Given the description of an element on the screen output the (x, y) to click on. 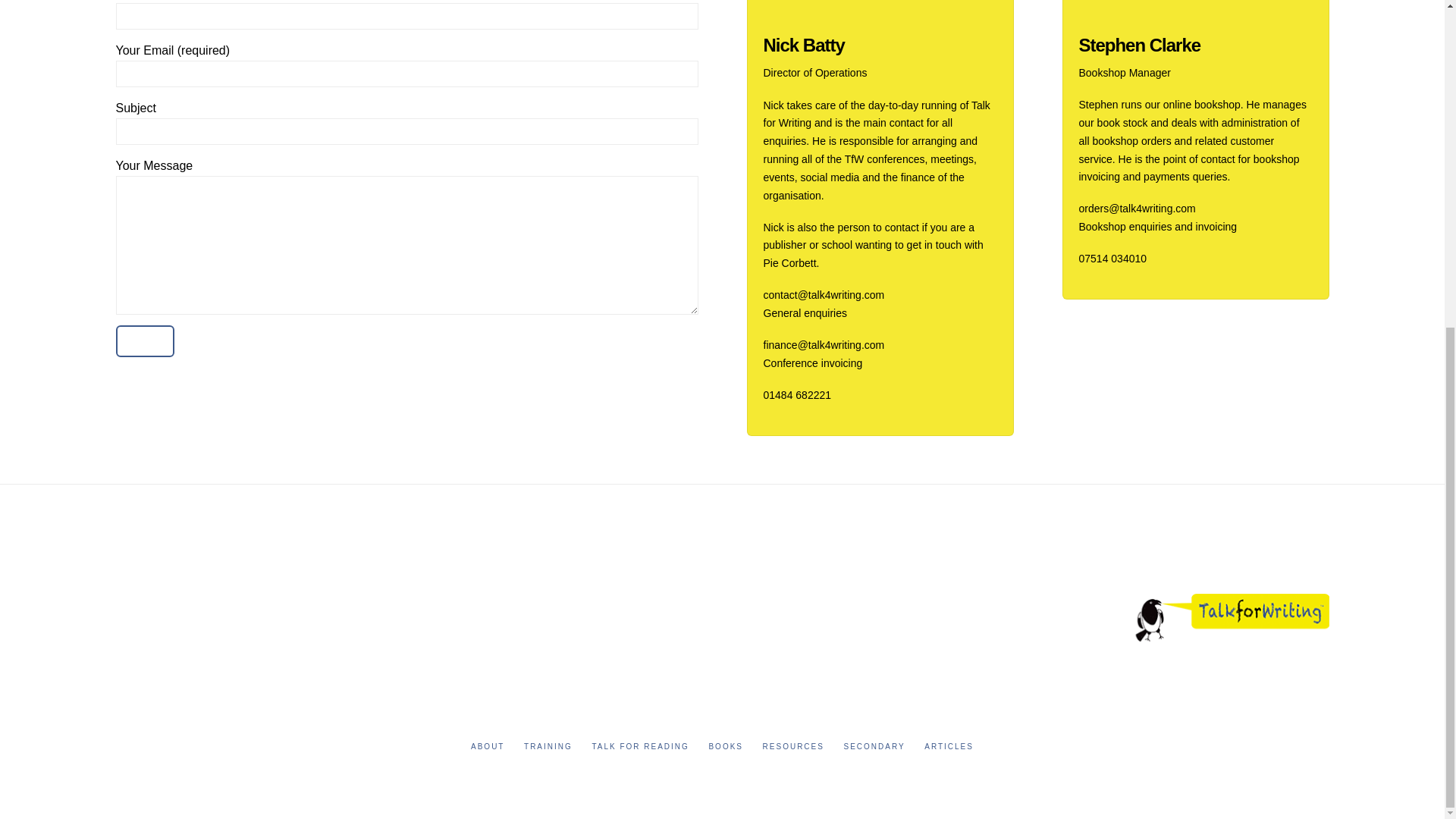
Email (588, 595)
Send (144, 341)
Email (392, 636)
